Given the description of an element on the screen output the (x, y) to click on. 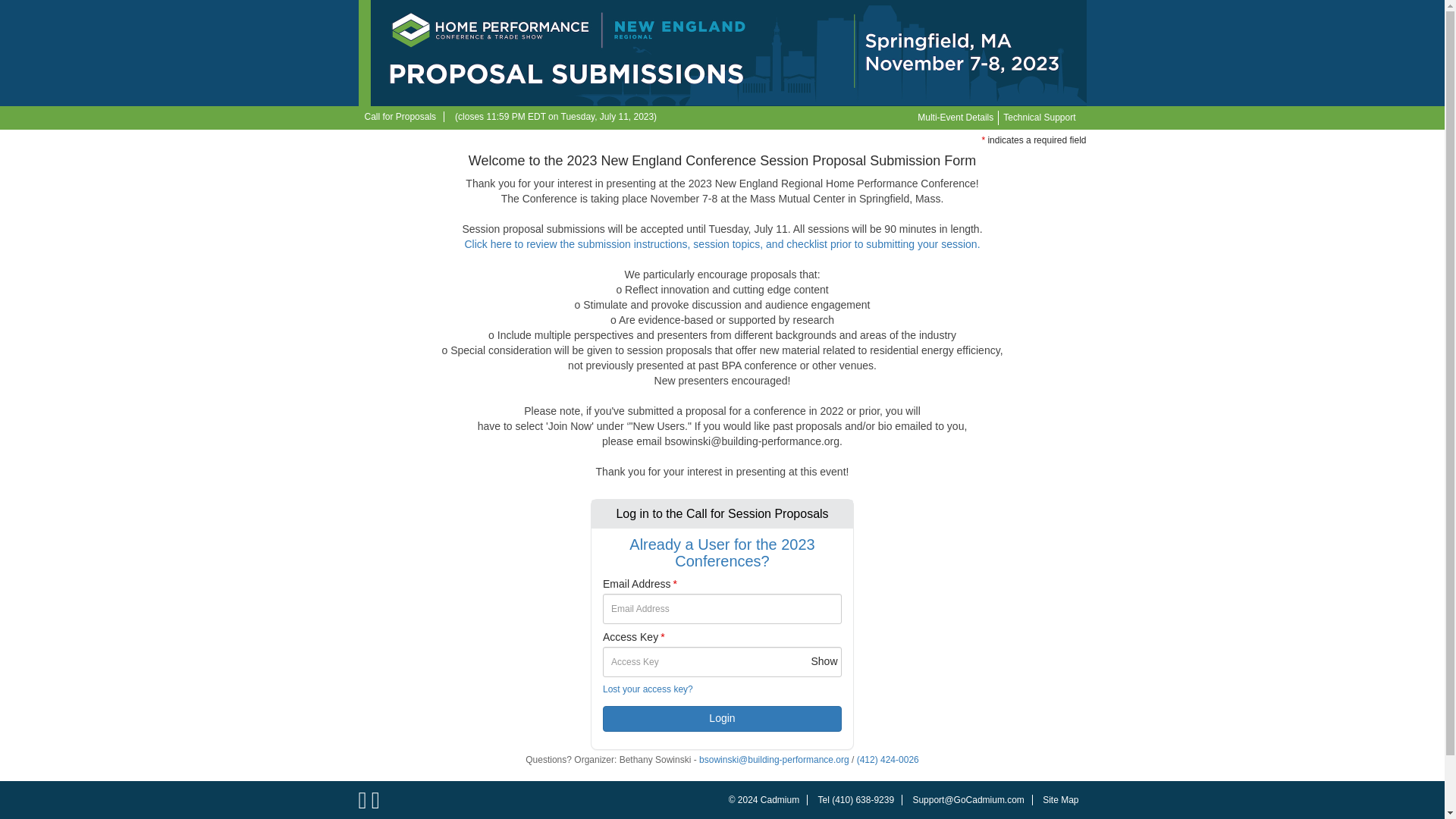
Technical Support (1039, 117)
Site Map (1060, 799)
Opens new window (779, 799)
Show (824, 661)
Show Password (824, 661)
Lost your access key? (647, 688)
Login (721, 718)
Multi-Event Details (955, 117)
